Given the description of an element on the screen output the (x, y) to click on. 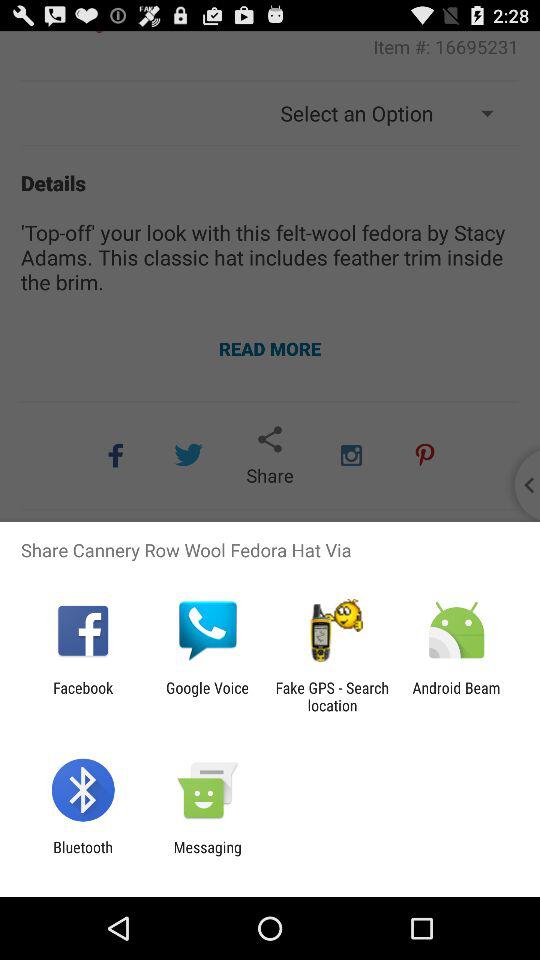
open fake gps search item (332, 696)
